Given the description of an element on the screen output the (x, y) to click on. 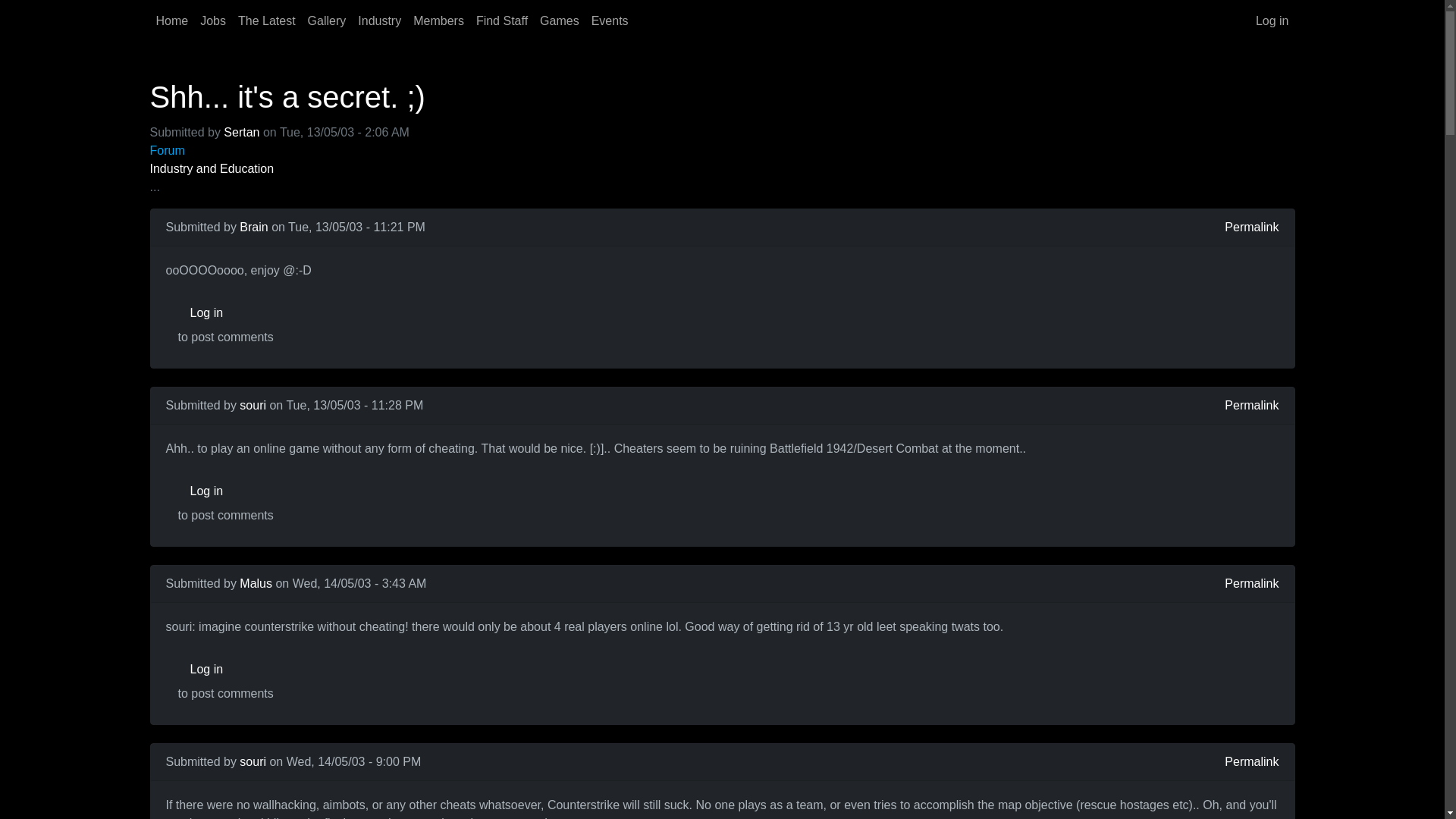
Malus (256, 583)
Log in (1272, 20)
Tuesday, 13 May, 2003 - 2:06 AM (344, 132)
Members (438, 20)
View user profile. (253, 761)
souri (253, 404)
The Latest (266, 20)
Sertan (241, 132)
View user profile. (253, 404)
souri (253, 761)
View user profile. (241, 132)
Permalink (1251, 761)
Log in (225, 313)
Industry (379, 20)
Jobs (212, 20)
